Given the description of an element on the screen output the (x, y) to click on. 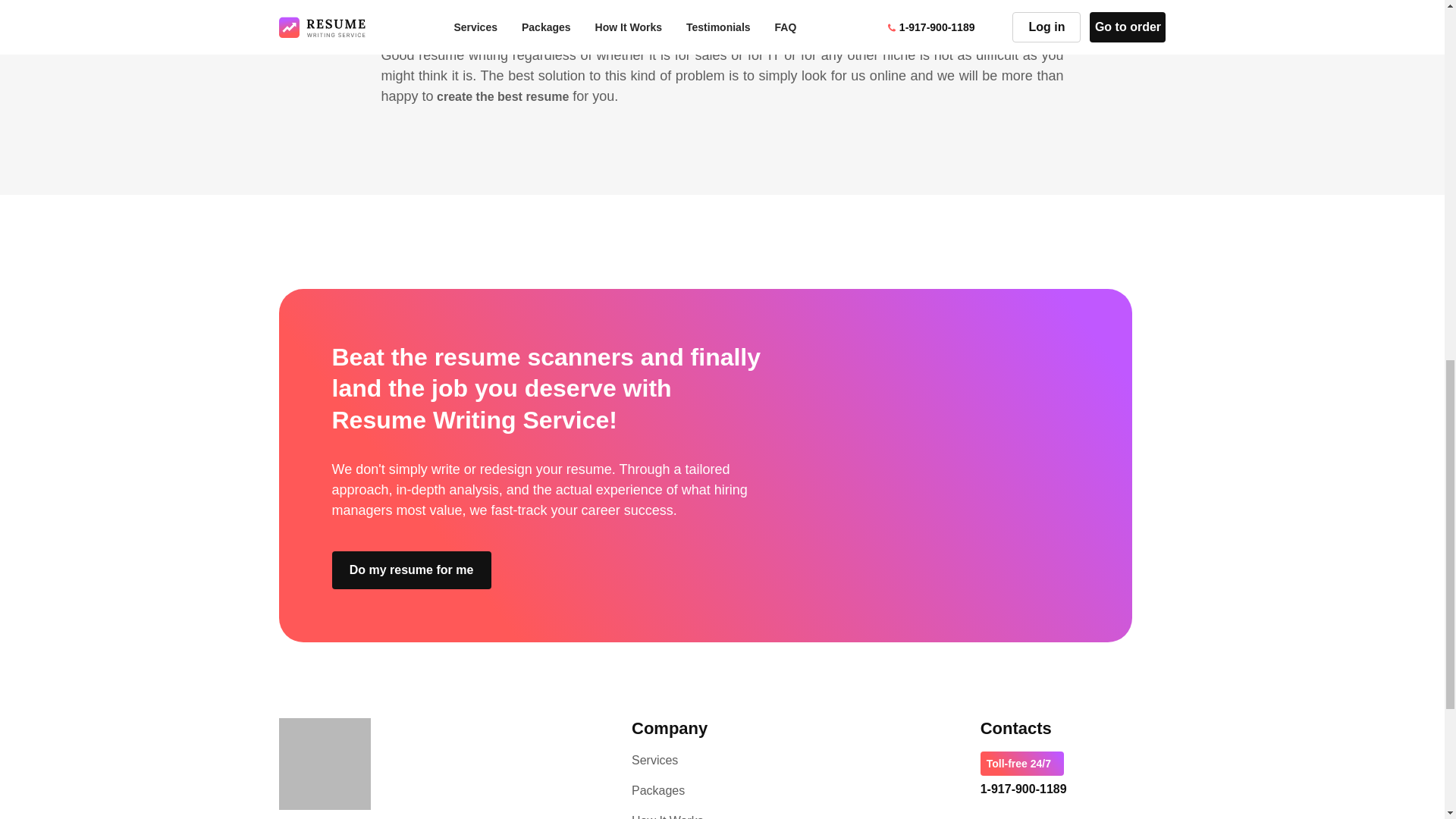
Services (654, 759)
Packages (657, 789)
How It Works (667, 816)
Do my resume for me (411, 569)
